Given the description of an element on the screen output the (x, y) to click on. 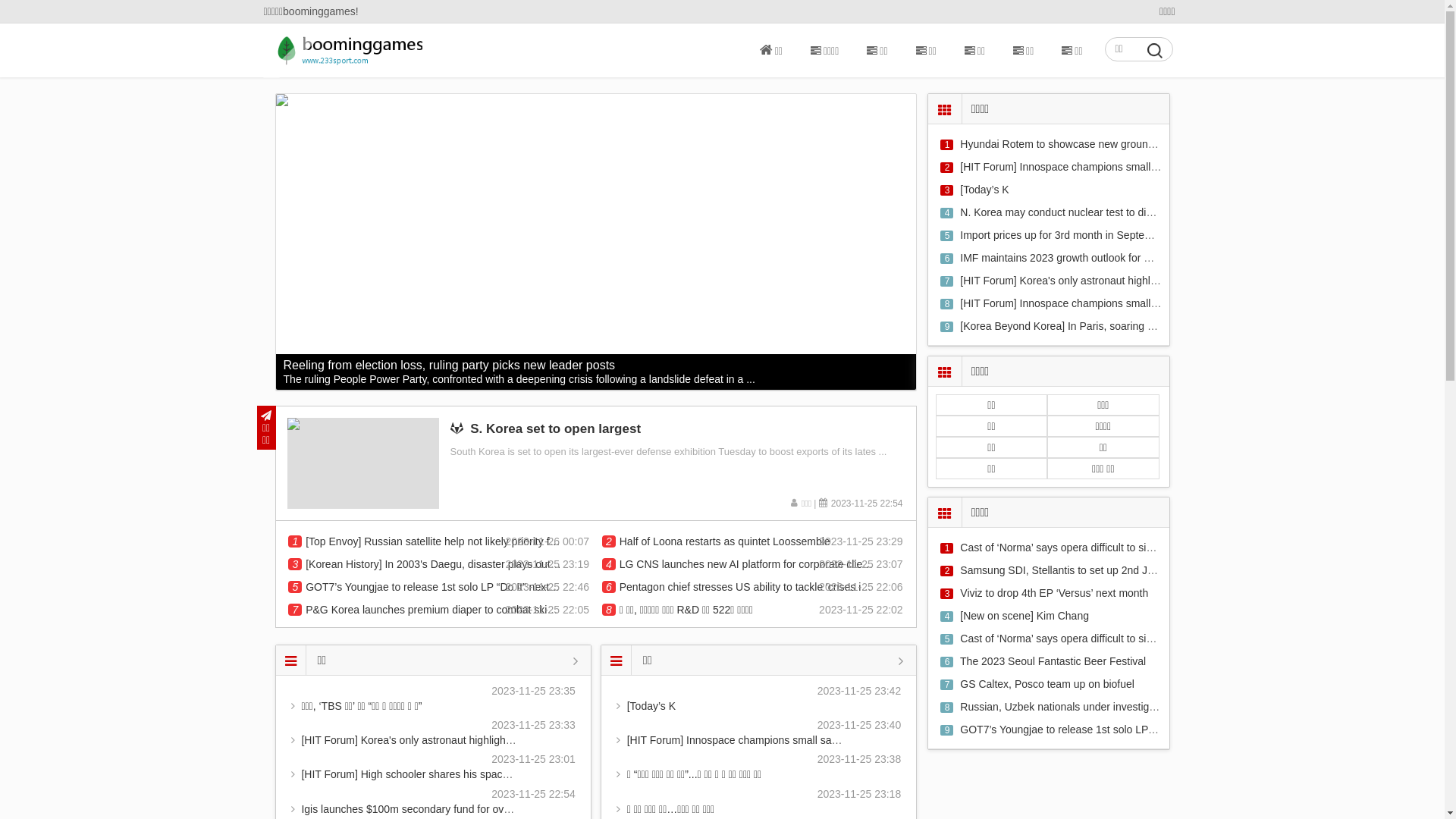
[HIT Forum] High schooler shares his space dream Element type: text (420, 774)
P&G Korea launches premium diaper to combat skin dryness Element type: text (433, 609)
Samsung SDI, Stellantis to set up 2nd JV plant in Indiana Element type: text (1094, 570)
The 2023 Seoul Fantastic Beer Festival Element type: text (1052, 661)
IMF maintains 2023 growth outlook for S. Korea at 1.4 pct Element type: text (1095, 257)
S. Korea set to open largest Element type: text (545, 428)
[HIT Forum] Innospace champions small satellite renaissance Element type: text (1104, 303)
S. Korea set to open largest Element type: hover (362, 462)
Half of Loona restarts as quintet Loossemble Element type: text (724, 541)
GS Caltex, Posco team up on biofuel Element type: text (1047, 683)
[New on scene] Kim Chang Element type: text (1024, 615)
[HIT Forum] Innospace champions small satellite renaissance Element type: text (771, 740)
[HIT Forum] Innospace champions small satellite renaissance Element type: text (1104, 166)
Igis launches $100m secondary fund for overseas investment Element type: text (445, 809)
LG CNS launches new AI platform for corporate clients Element type: text (747, 563)
